Given the description of an element on the screen output the (x, y) to click on. 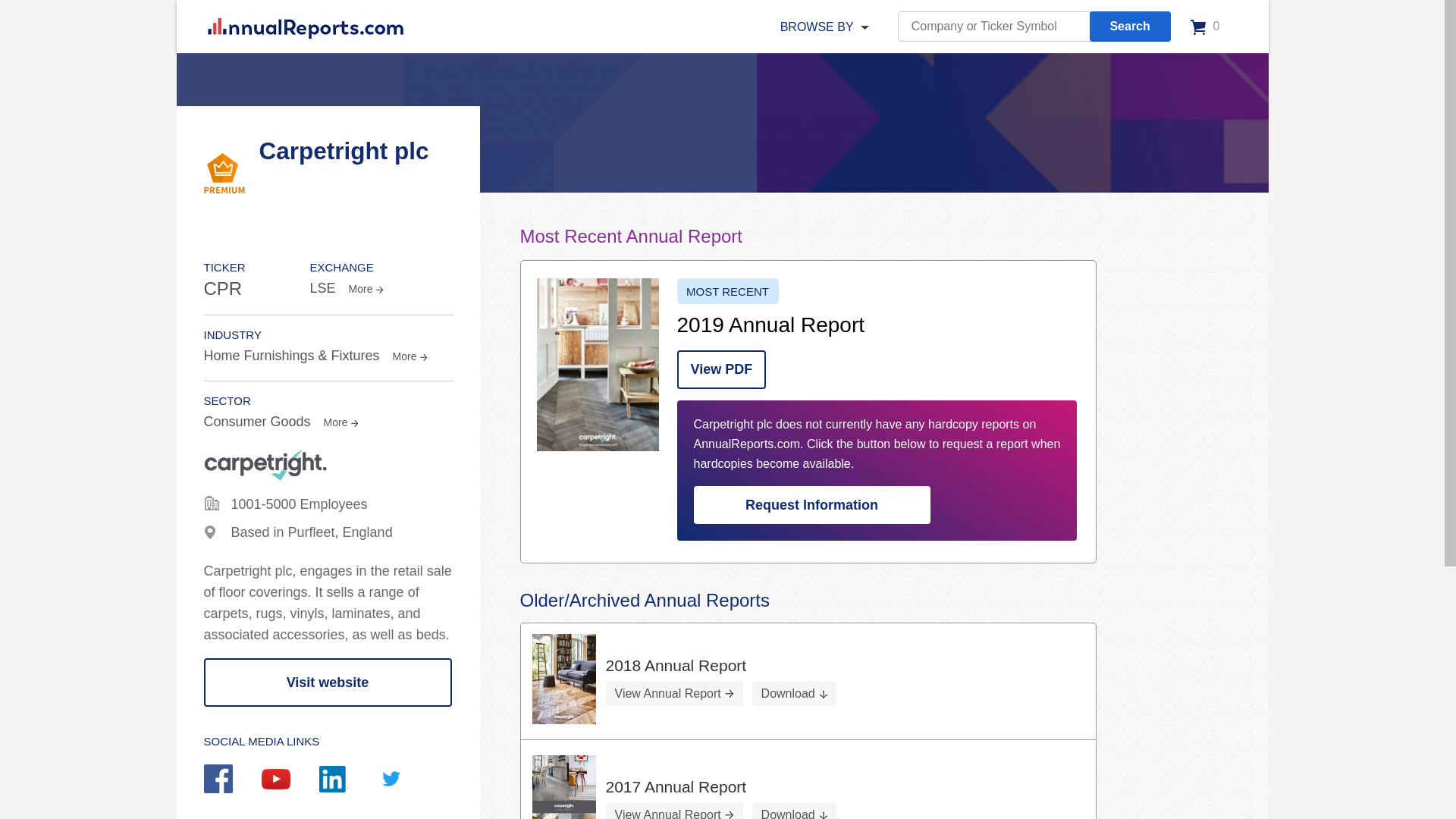
Visit Carpetright plc on Facebook (231, 780)
More (409, 356)
Visit Carpetright plc on LinkedIn (346, 780)
Download (793, 692)
View Annual Report (673, 692)
View Annual Report (673, 810)
BROWSE BY (816, 26)
Search (1129, 26)
Search (1129, 26)
More (339, 422)
More (364, 288)
Download (793, 810)
Visit Carpetright plc on Youtube (289, 781)
View PDF (721, 369)
Visit Carpetright plc on Twitter (404, 780)
